Given the description of an element on the screen output the (x, y) to click on. 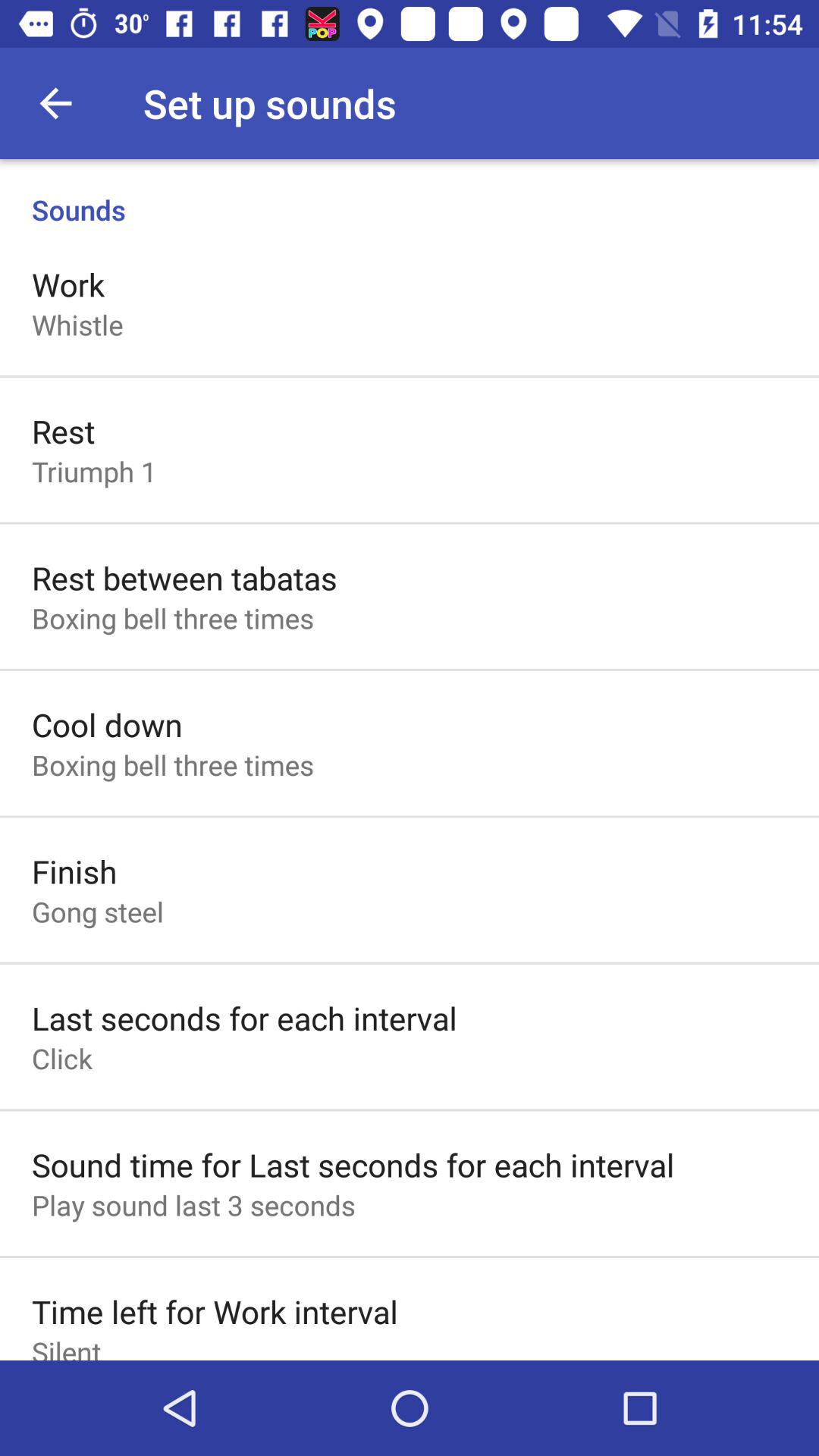
choose the icon next to the set up sounds (55, 103)
